Given the description of an element on the screen output the (x, y) to click on. 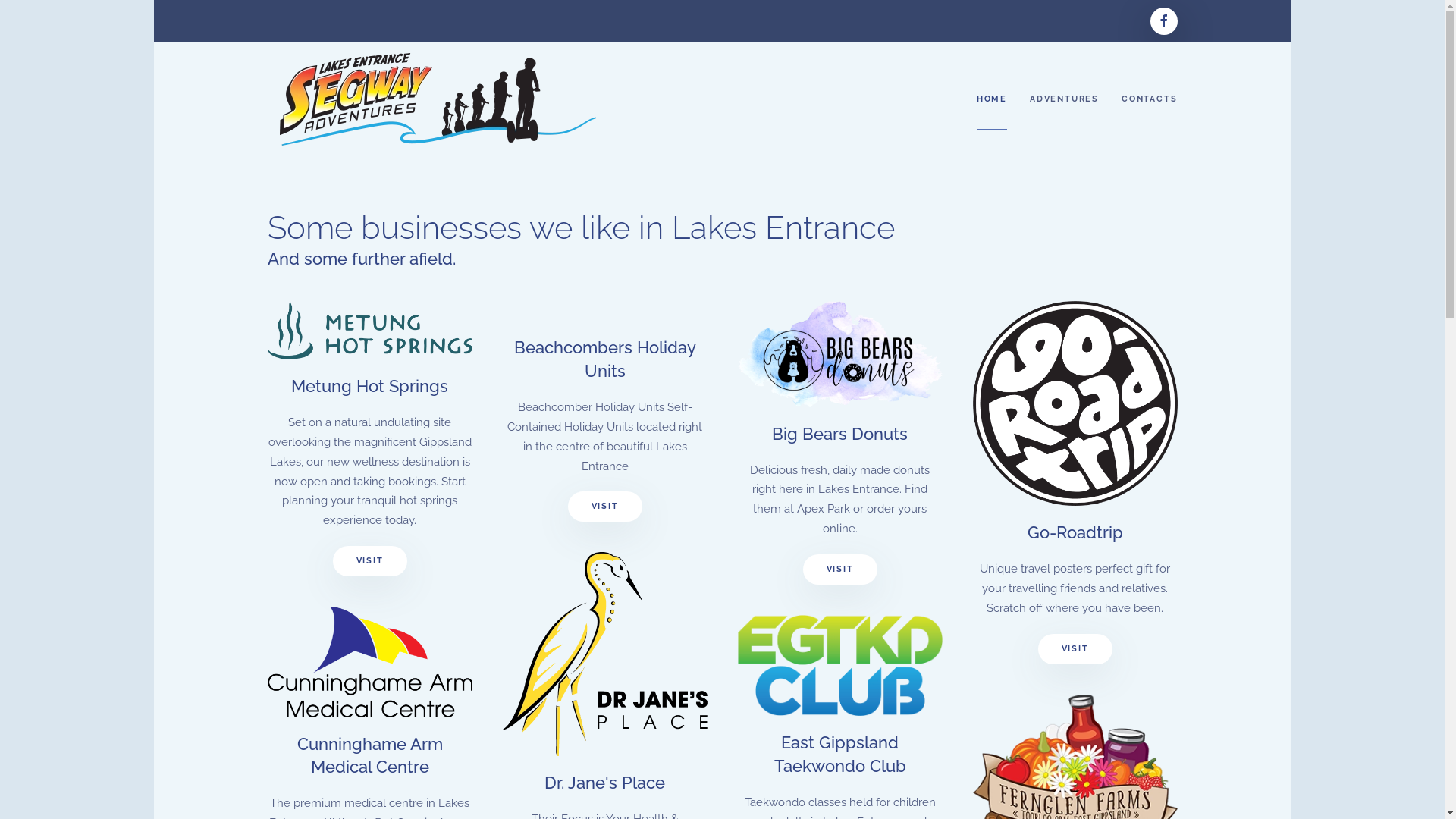
VISIT Element type: text (1074, 648)
CONTACTS Element type: text (1148, 99)
VISIT Element type: text (604, 506)
VISIT Element type: text (839, 569)
VISIT Element type: text (369, 561)
ADVENTURES Element type: text (1063, 99)
HOME Element type: text (991, 99)
